Given the description of an element on the screen output the (x, y) to click on. 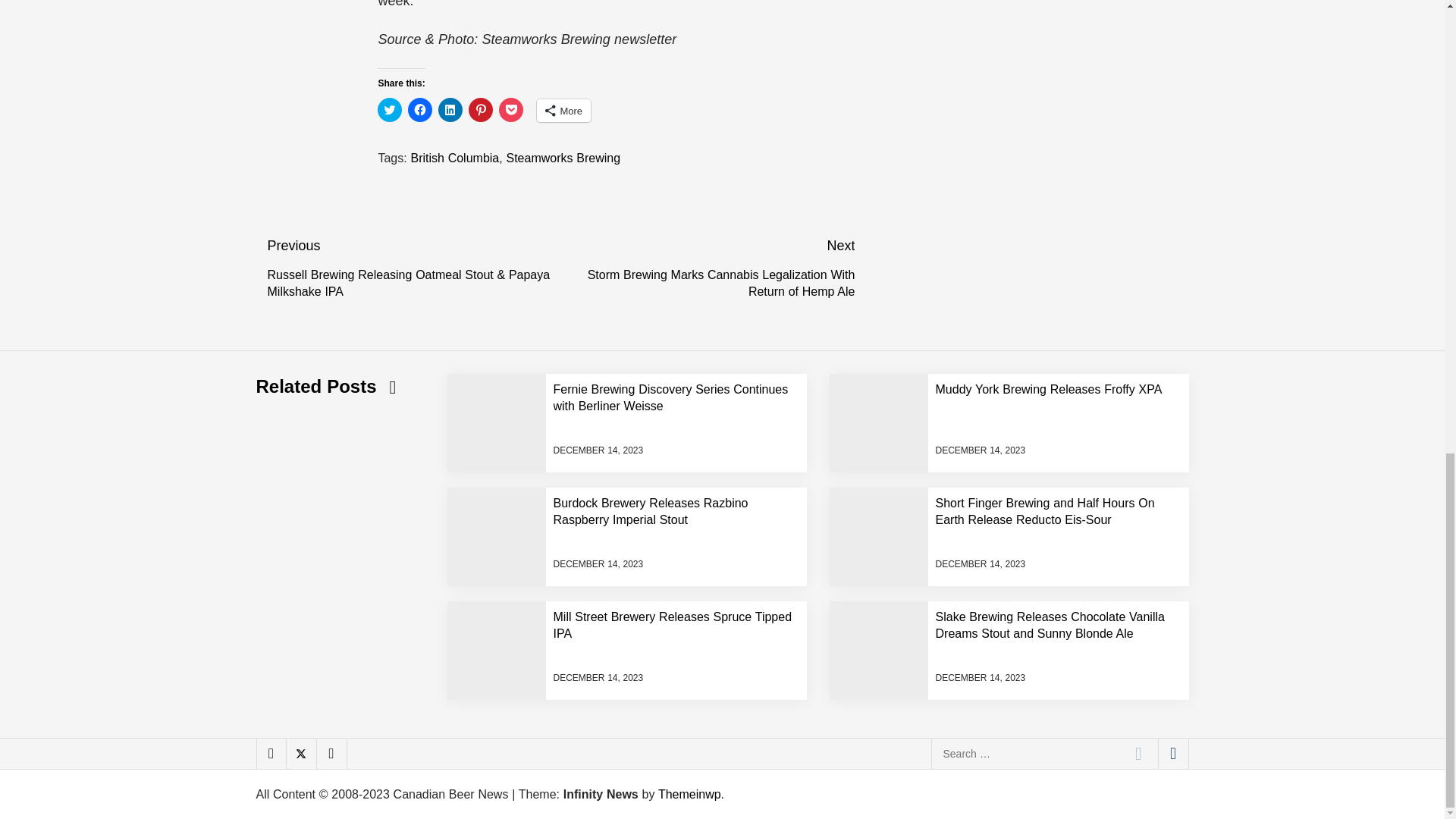
Click to share on LinkedIn (450, 109)
Search (1138, 752)
Click to share on Pocket (510, 109)
Search (1138, 752)
Click to share on Pinterest (480, 109)
Click to share on Facebook (419, 109)
Click to share on Twitter (389, 109)
Steamworks Brewing (562, 157)
More (564, 110)
